Given the description of an element on the screen output the (x, y) to click on. 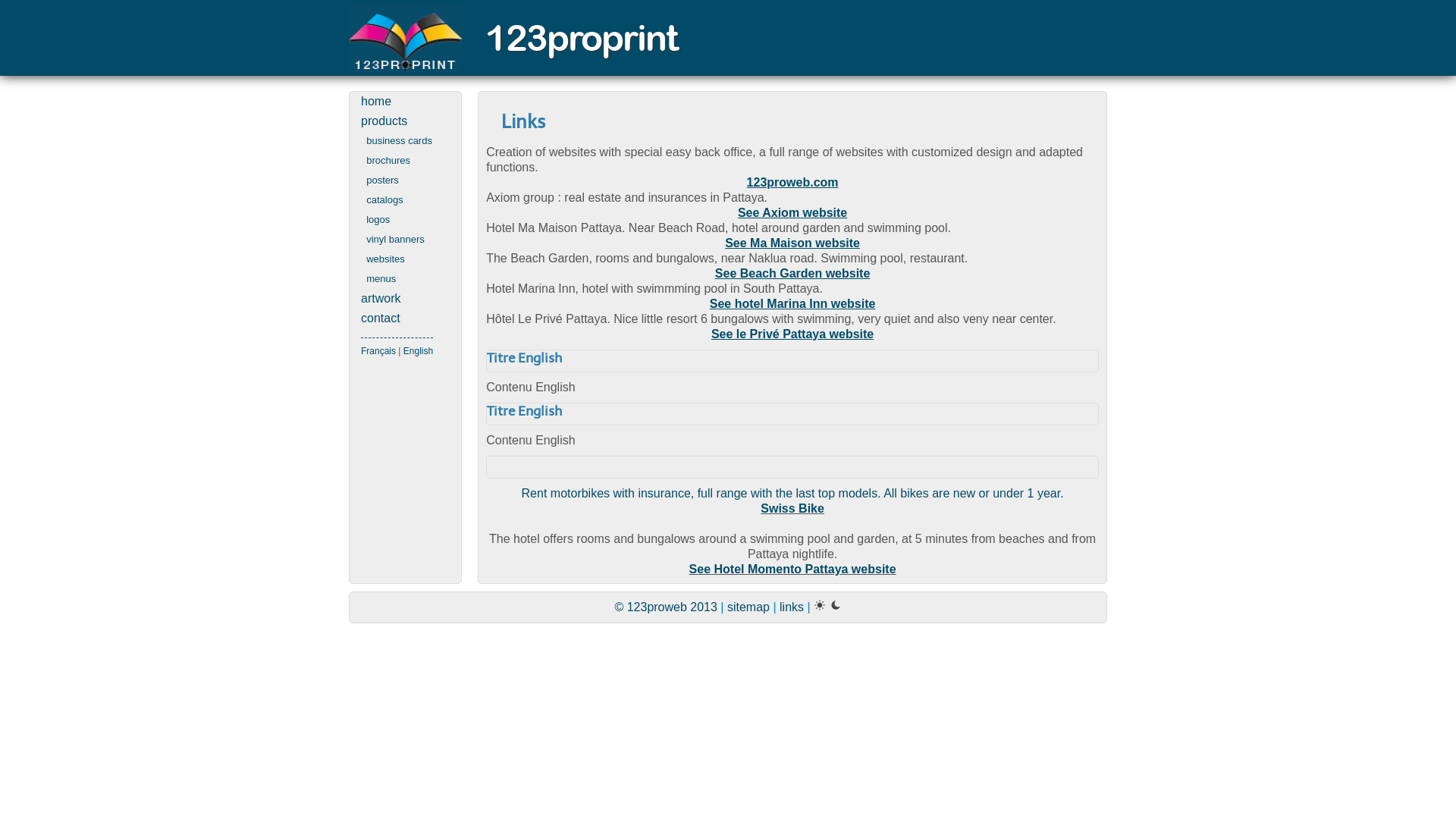
home Element type: text (405, 101)
links Element type: text (791, 606)
  catalogs Element type: text (405, 200)
123proweb.com Element type: text (792, 182)
  vinyl banners Element type: text (405, 239)
  business cards Element type: text (405, 140)
  brochures Element type: text (405, 160)
See Hotel Momento Pattaya website Element type: text (792, 568)
artwork Element type: text (405, 298)
See Ma Maison website Element type: text (792, 250)
See hotel Marina Inn website Element type: text (792, 311)
  logos Element type: text (405, 219)
See Axiom website Element type: text (792, 212)
Swiss Bike Element type: text (792, 508)
  menus Element type: text (405, 278)
English Element type: text (418, 350)
See Beach Garden website Element type: text (792, 280)
products Element type: text (405, 121)
sitemap Element type: text (748, 606)
  posters Element type: text (405, 180)
  websites Element type: text (405, 259)
contact Element type: text (405, 318)
